Given the description of an element on the screen output the (x, y) to click on. 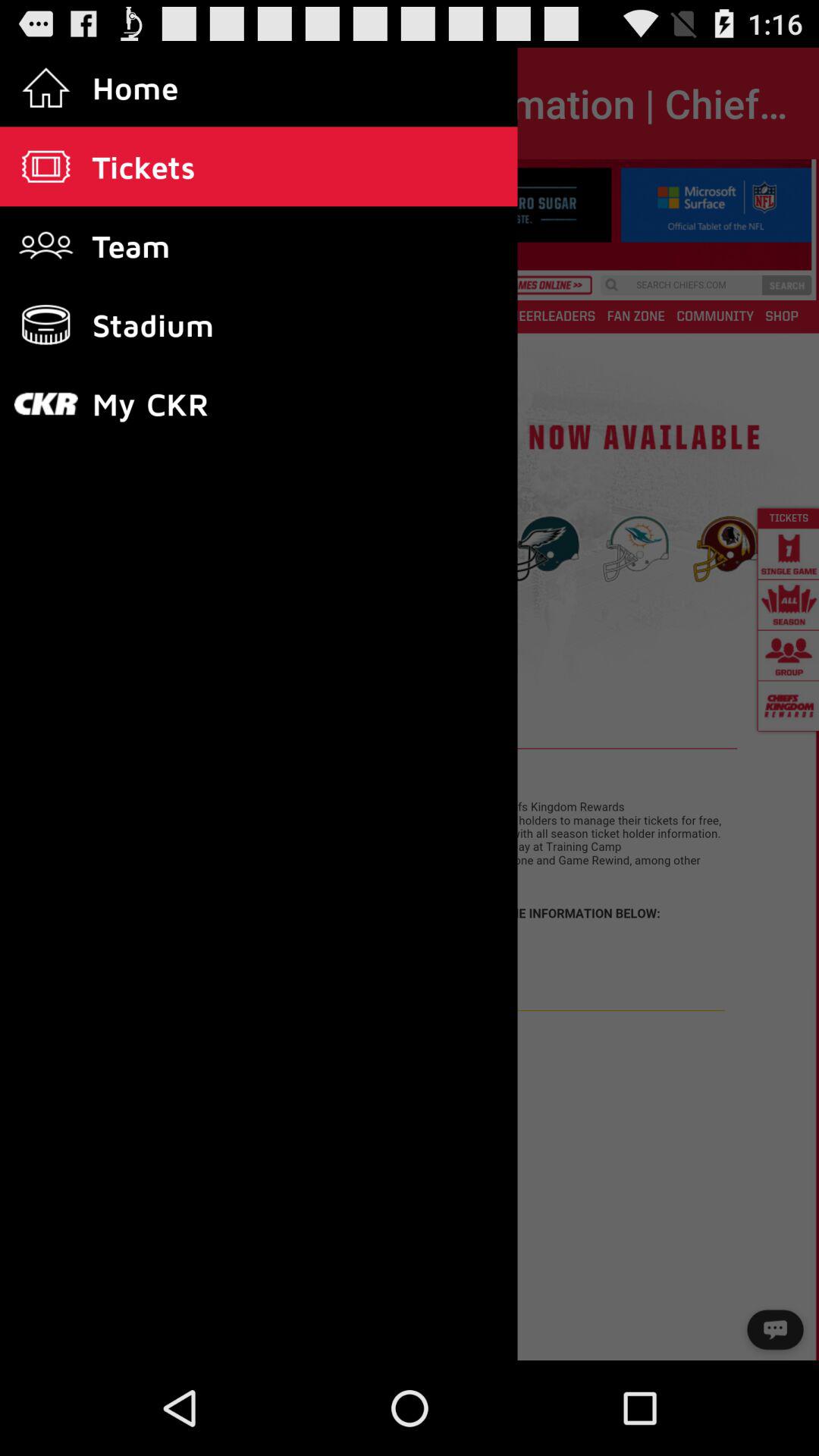
choose the icon to the left of season tickets information item (55, 103)
